Given the description of an element on the screen output the (x, y) to click on. 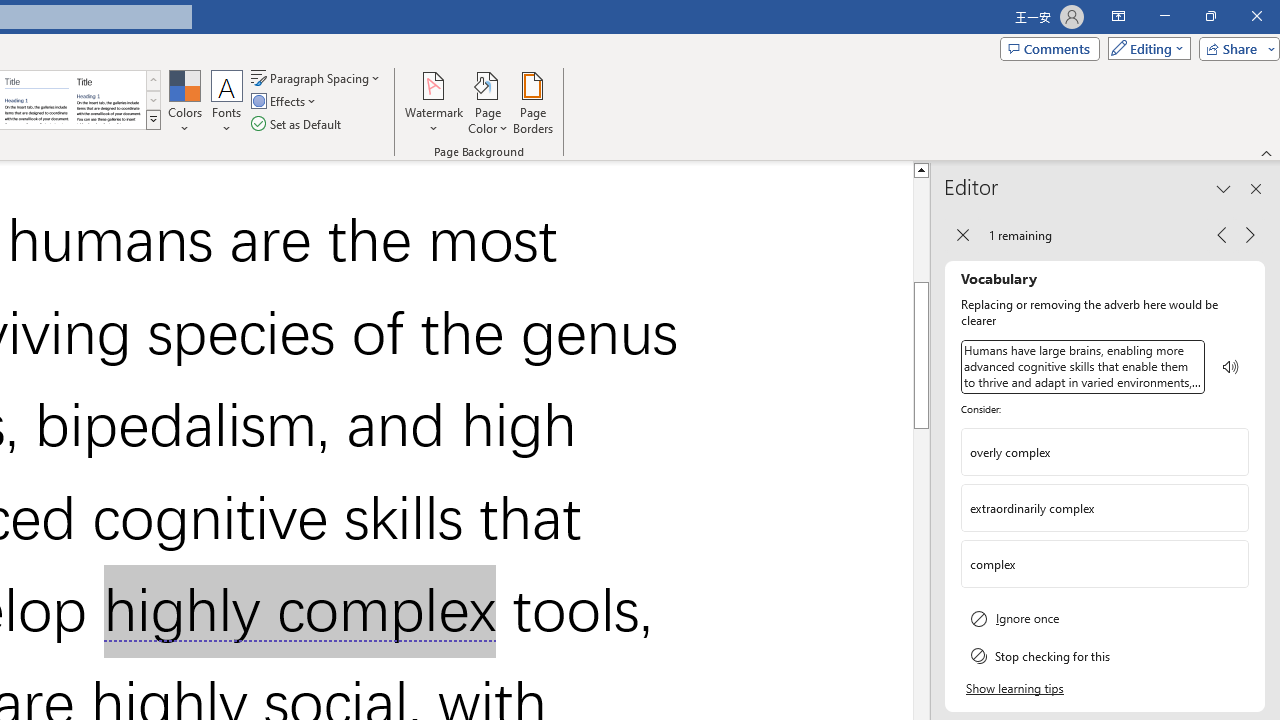
Previous Issue, 1 remaining (1221, 234)
Minimize (1164, 16)
Paragraph Spacing (317, 78)
Word 2010 (36, 100)
Show learning tips (1016, 689)
Class: NetUIImage (153, 119)
Editing (1144, 47)
Style Set (153, 120)
Share (1235, 48)
Watermark (434, 102)
extraordinarily complex (1089, 508)
